Given the description of an element on the screen output the (x, y) to click on. 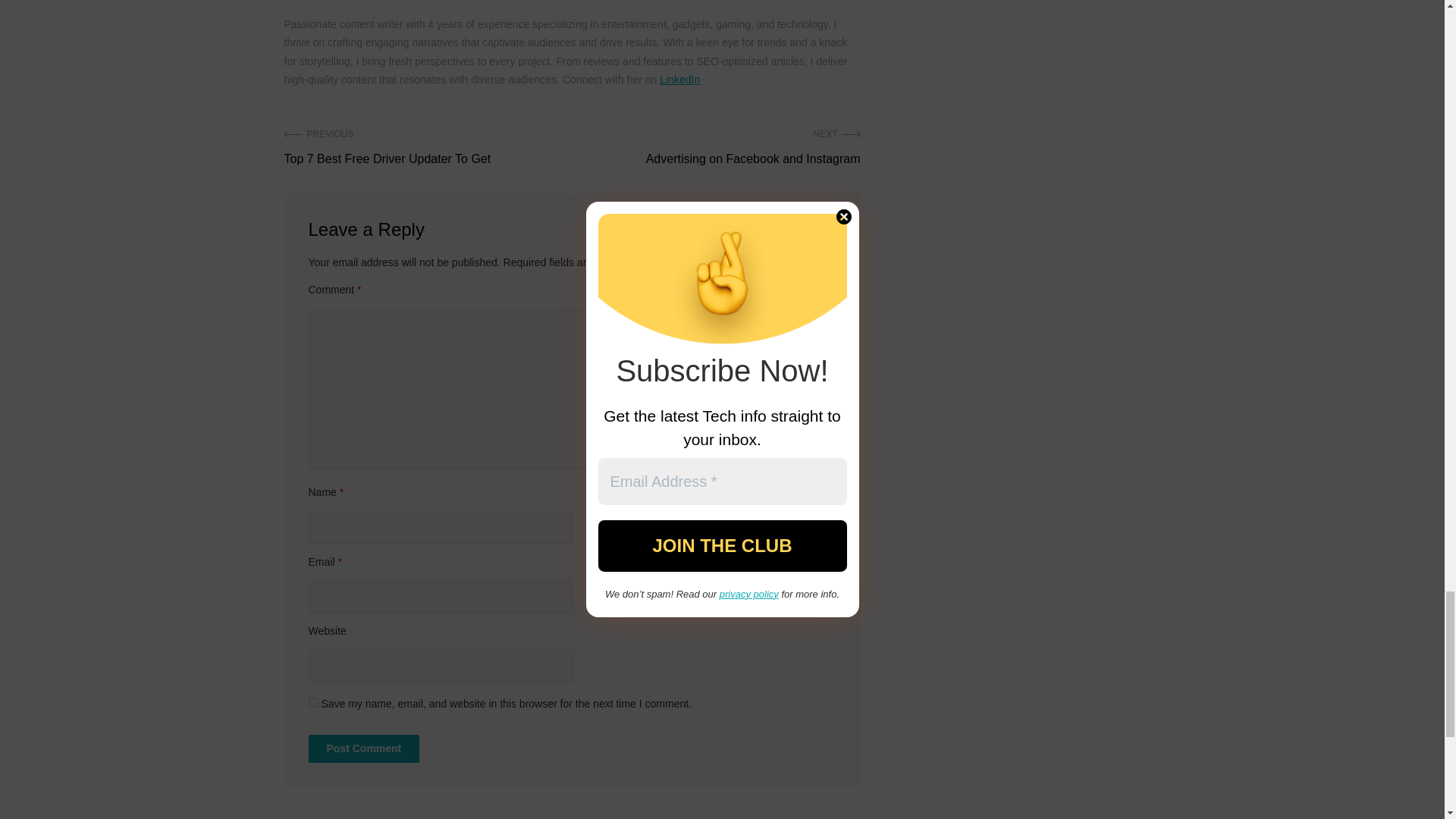
yes (312, 702)
LinkedIn (679, 79)
Post Comment (363, 748)
